Given the description of an element on the screen output the (x, y) to click on. 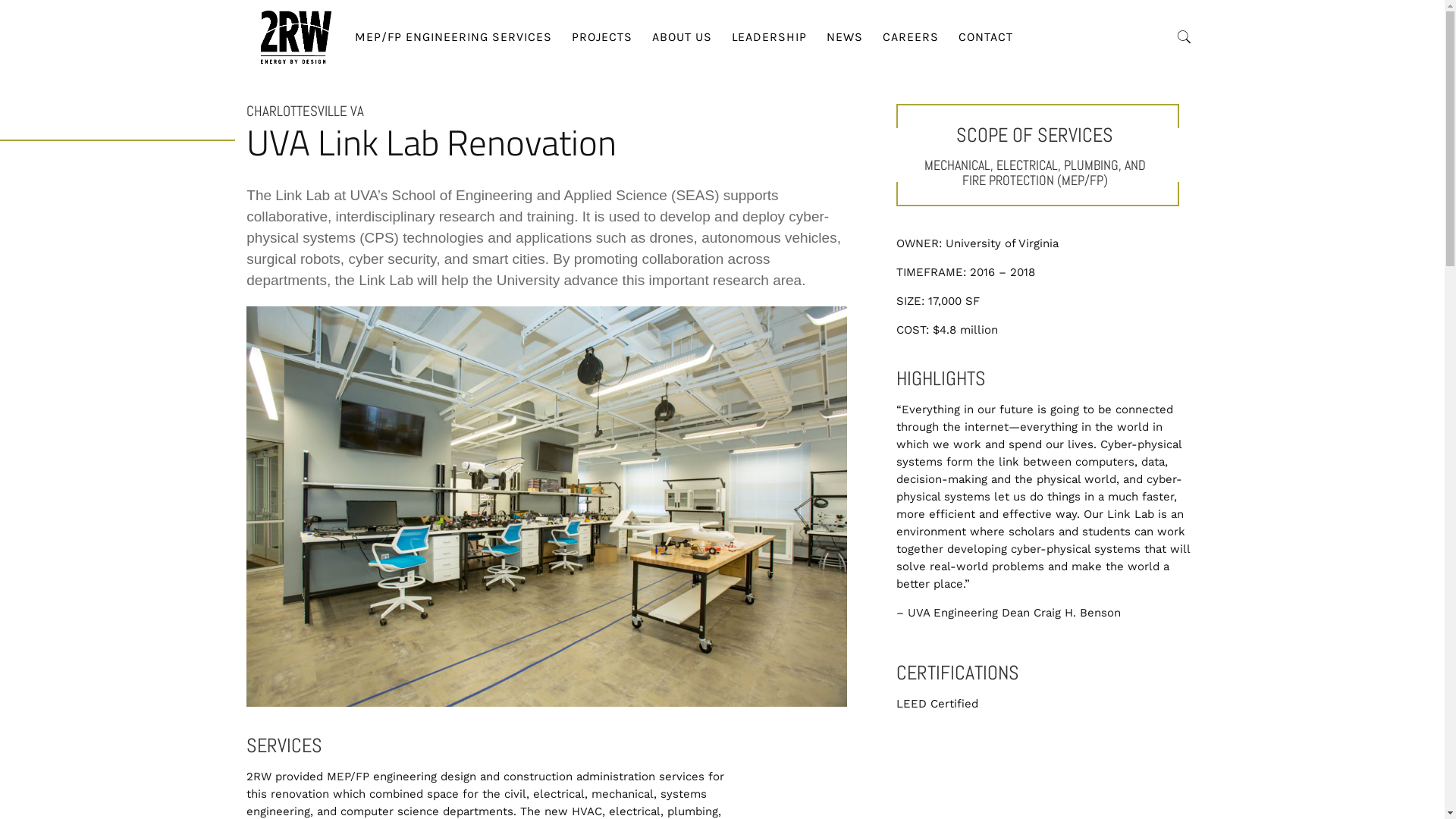
2RW Constultants Element type: hover (295, 36)
CONTACT Element type: text (985, 36)
LEADERSHIP Element type: text (768, 36)
ABOUT US Element type: text (681, 36)
PROJECTS Element type: text (601, 36)
MEP/FP ENGINEERING SERVICES Element type: text (453, 36)
CAREERS Element type: text (910, 36)
NEWS Element type: text (844, 36)
